Given the description of an element on the screen output the (x, y) to click on. 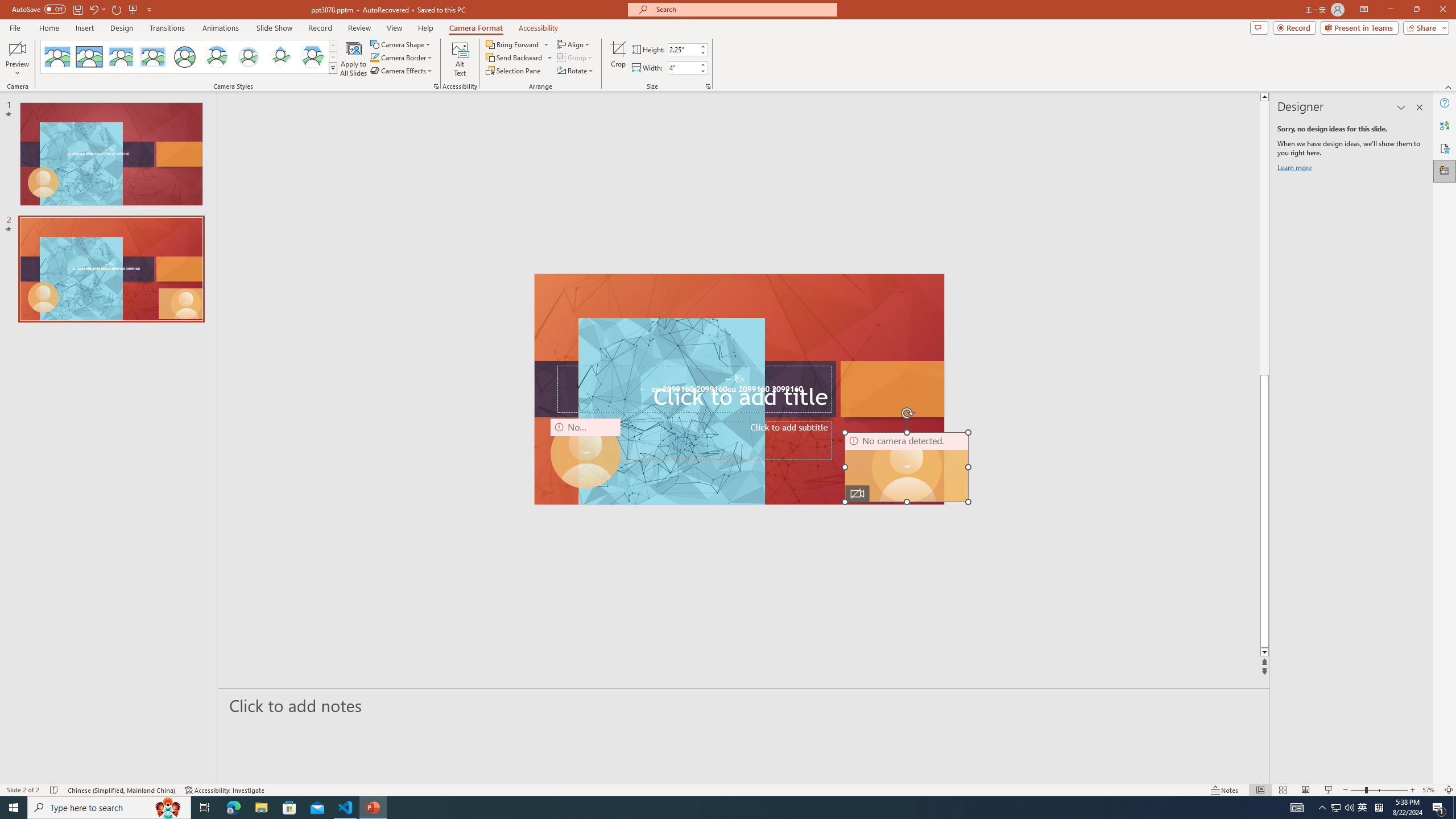
Center Shadow Circle (216, 56)
Camera Format (475, 28)
Soft Edge Rectangle (152, 56)
Simple Frame Rectangle (88, 56)
